Given the description of an element on the screen output the (x, y) to click on. 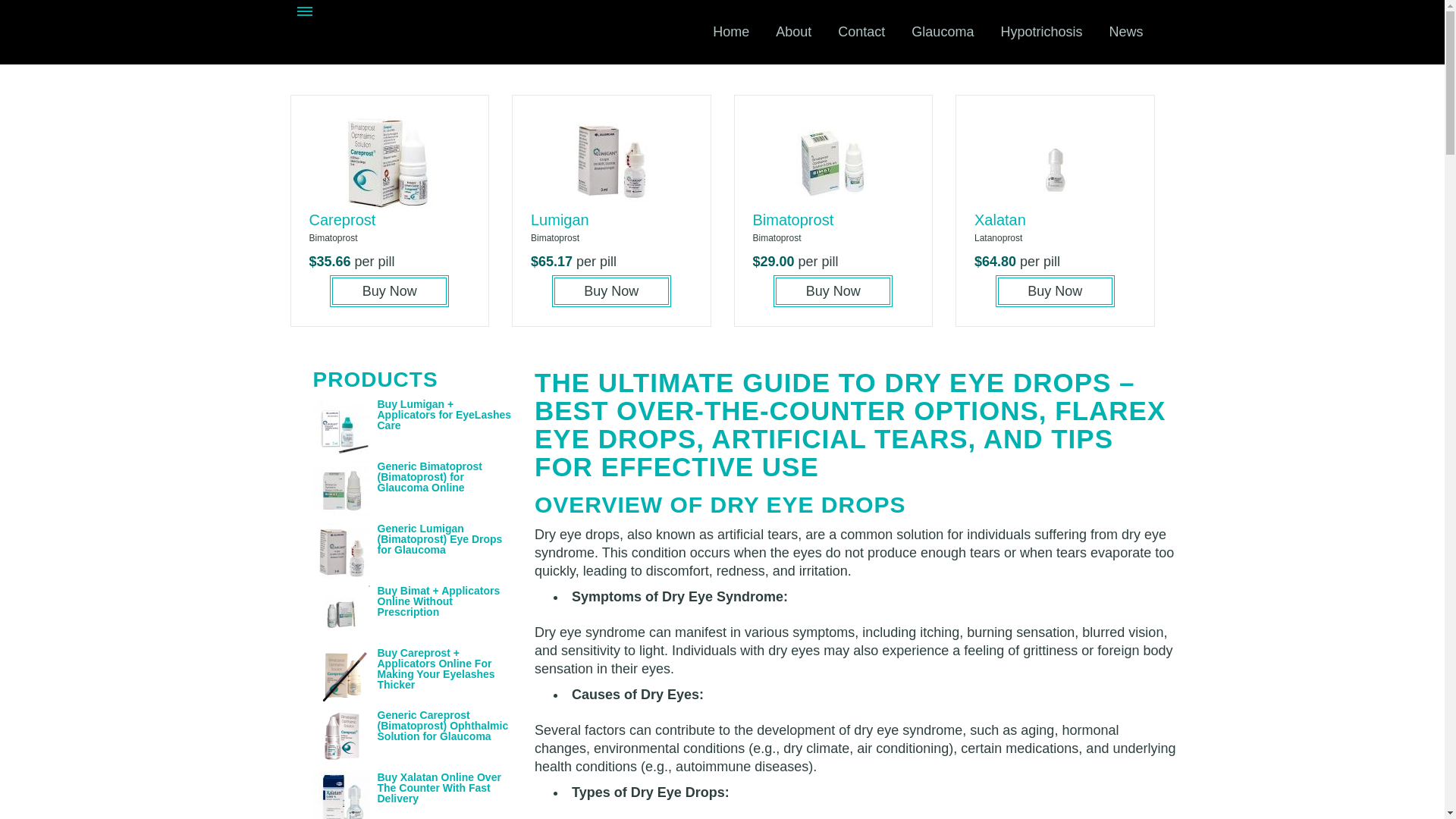
Lumigan (560, 219)
About (793, 32)
Hypotrichosis (1040, 32)
Buy Now (611, 290)
Glaucoma (942, 32)
Home (730, 32)
Buy Now (832, 290)
Xalatan (1000, 219)
Bimatoprost (792, 219)
Contact (861, 32)
